Given the description of an element on the screen output the (x, y) to click on. 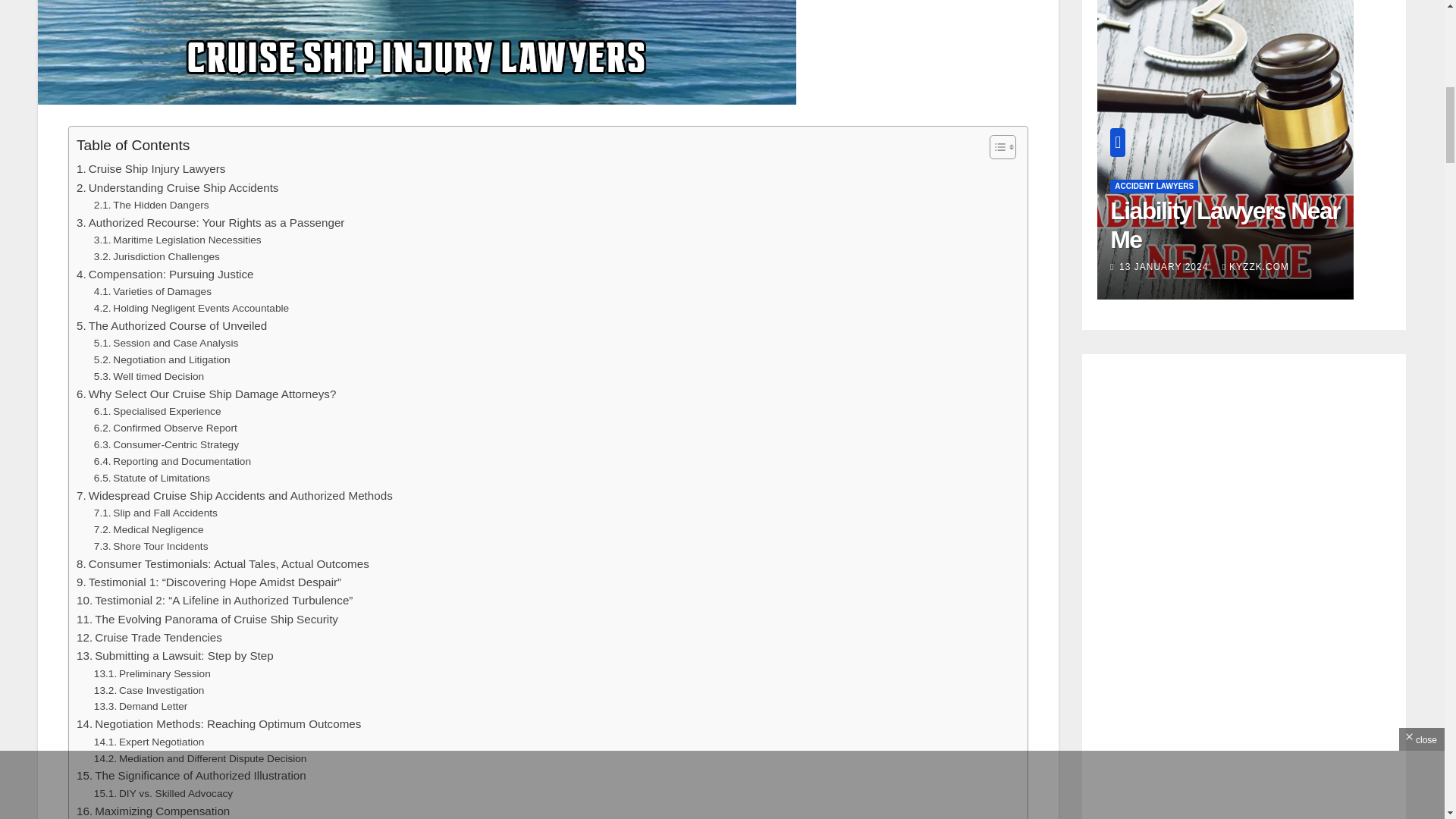
Jurisdiction Challenges (156, 256)
Well timed Decision (148, 376)
The Hidden Dangers (151, 205)
Cruise Ship Injury Lawyers (151, 168)
Holding Negligent Events Accountable (191, 308)
Why Select Our Cruise Ship Damage Attorneys? (206, 393)
Holding Negligent Events Accountable (191, 308)
Consumer-Centric Strategy (166, 444)
The Authorized Course of Unveiled (171, 325)
Authorized Recourse: Your Rights as a Passenger (210, 222)
Cruise Ship Injury Lawyers (151, 168)
The Hidden Dangers (151, 205)
Varieties of Damages (152, 291)
Understanding Cruise Ship Accidents (177, 188)
Jurisdiction Challenges (156, 256)
